Given the description of an element on the screen output the (x, y) to click on. 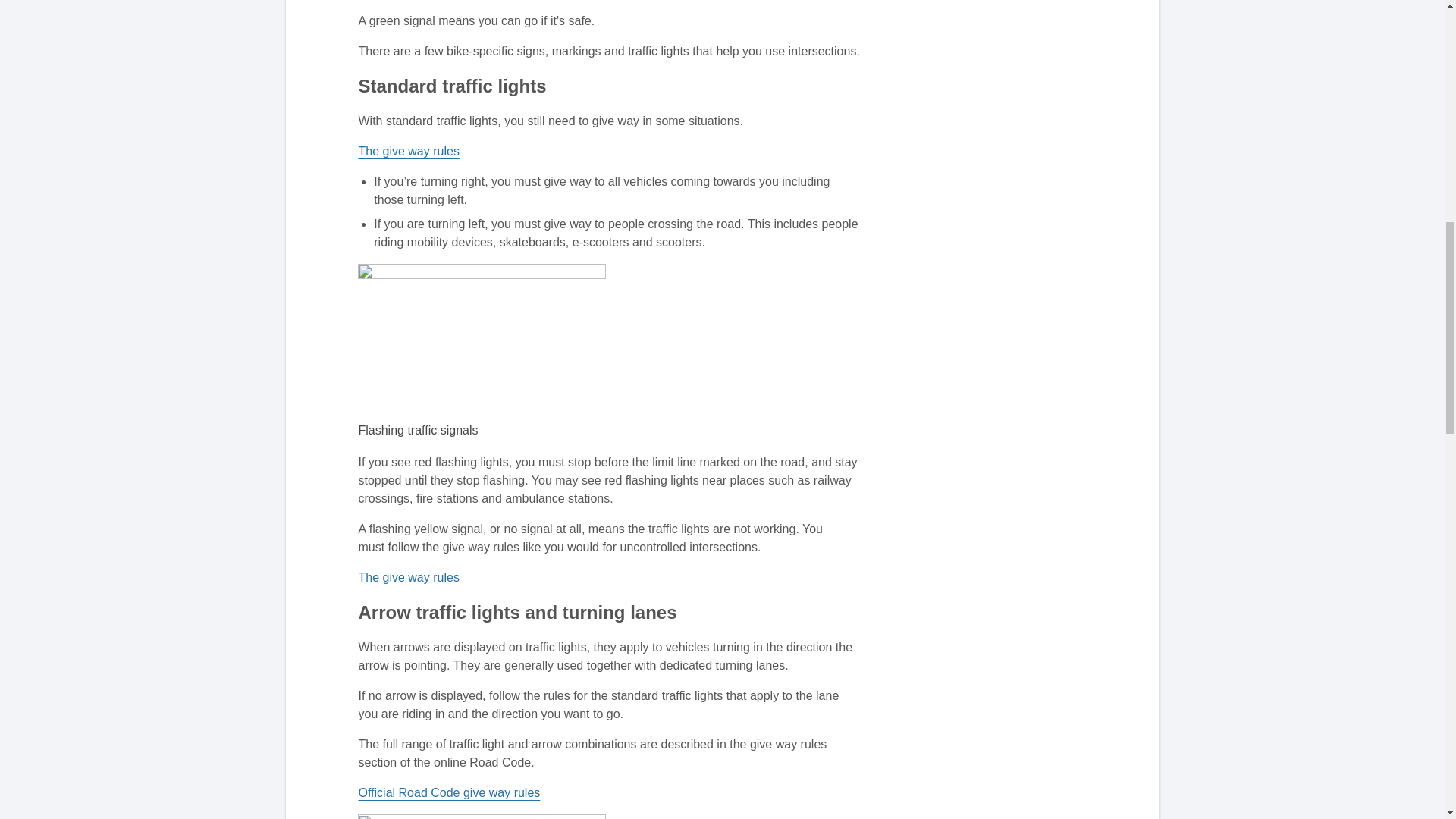
Arrow lights all (481, 816)
5.5 traffic light flash all (481, 339)
